Given the description of an element on the screen output the (x, y) to click on. 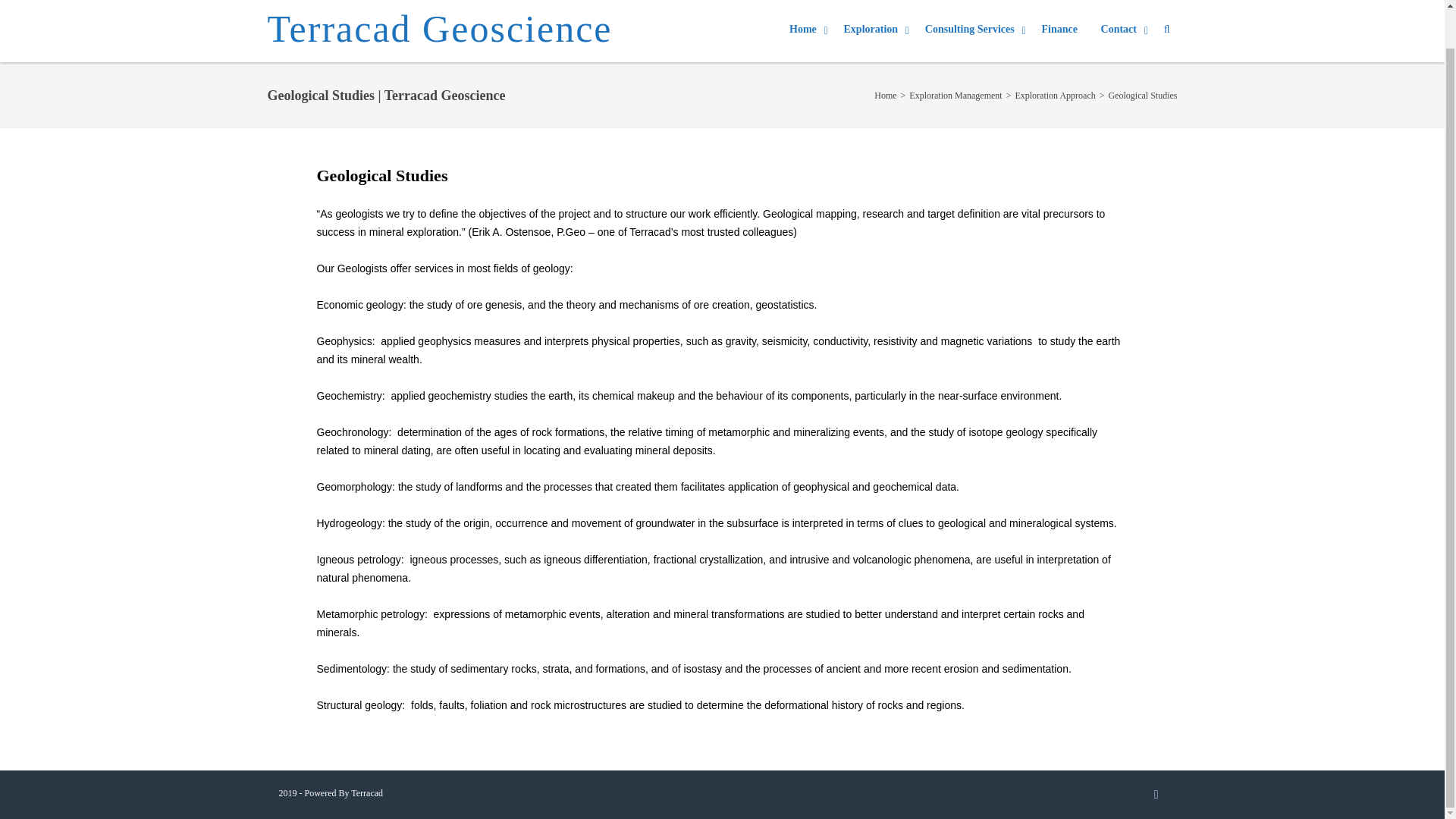
Consulting Services (975, 29)
Home (808, 29)
Exploration (877, 29)
Contact (1124, 29)
Finance (1059, 29)
Terracad Geoscience (438, 31)
Terracad Geoscience (438, 31)
